Given the description of an element on the screen output the (x, y) to click on. 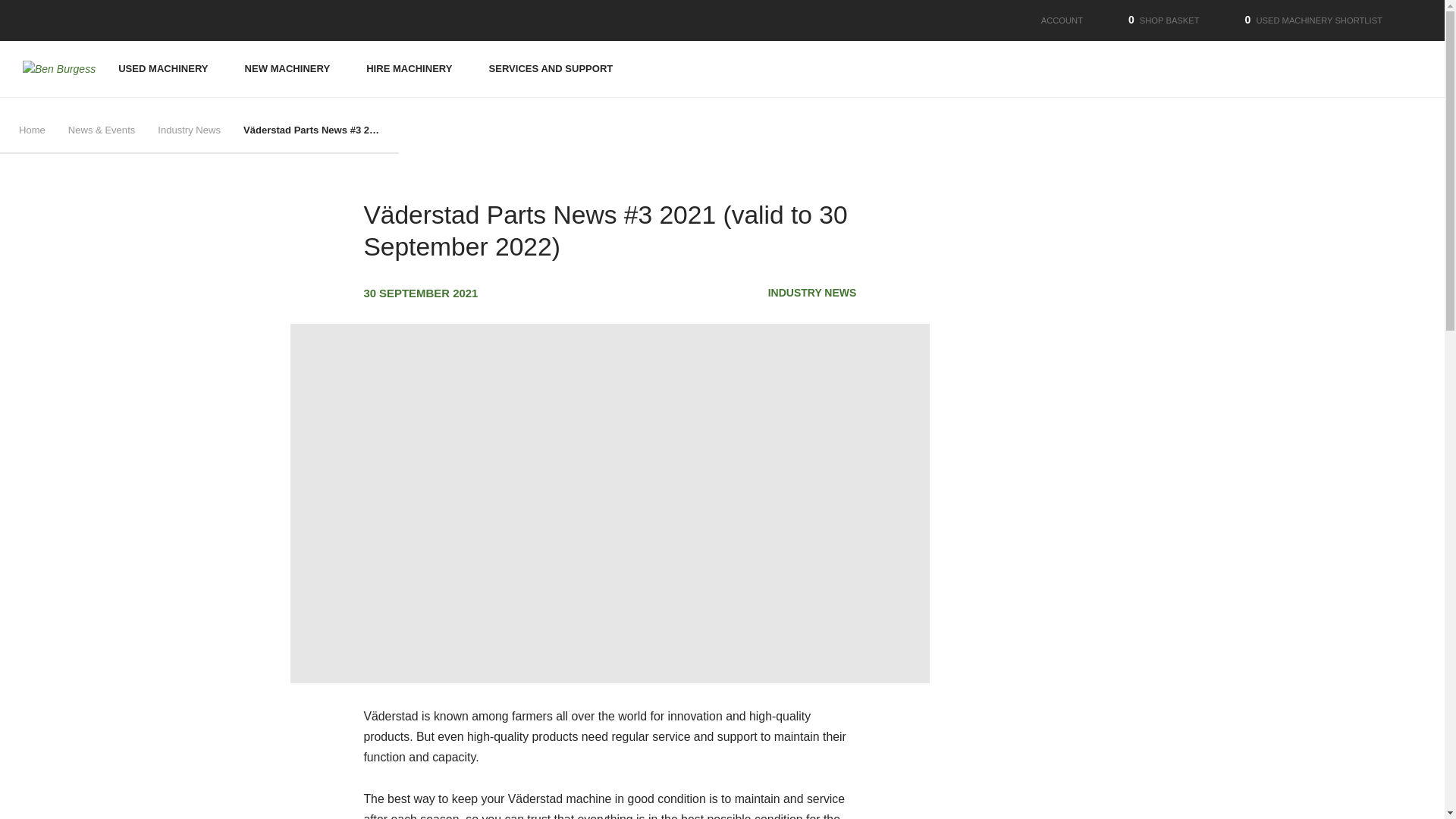
SERVICES AND SUPPORT (549, 69)
NEW MACHINERY (287, 69)
0SHOP BASKET (1152, 20)
ACCOUNT (1050, 20)
HIRE MACHINERY (408, 69)
USED MACHINERY (162, 69)
